Given the description of an element on the screen output the (x, y) to click on. 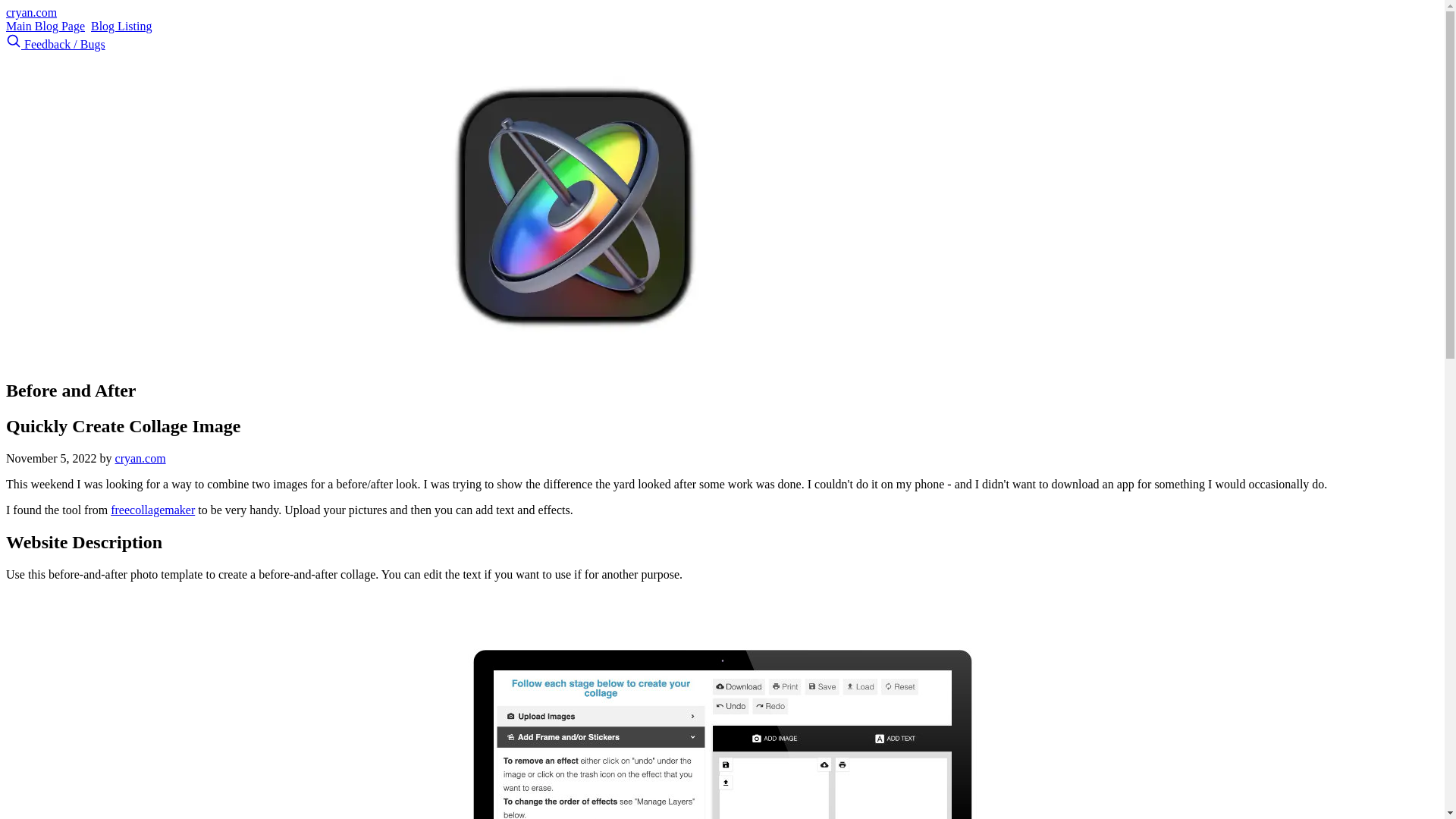
Search (13, 40)
cryan.com (140, 458)
freecollagemaker (152, 509)
Main Blog Page (44, 25)
Search (14, 43)
Blog Listing (120, 25)
cryan.com (30, 11)
